Given the description of an element on the screen output the (x, y) to click on. 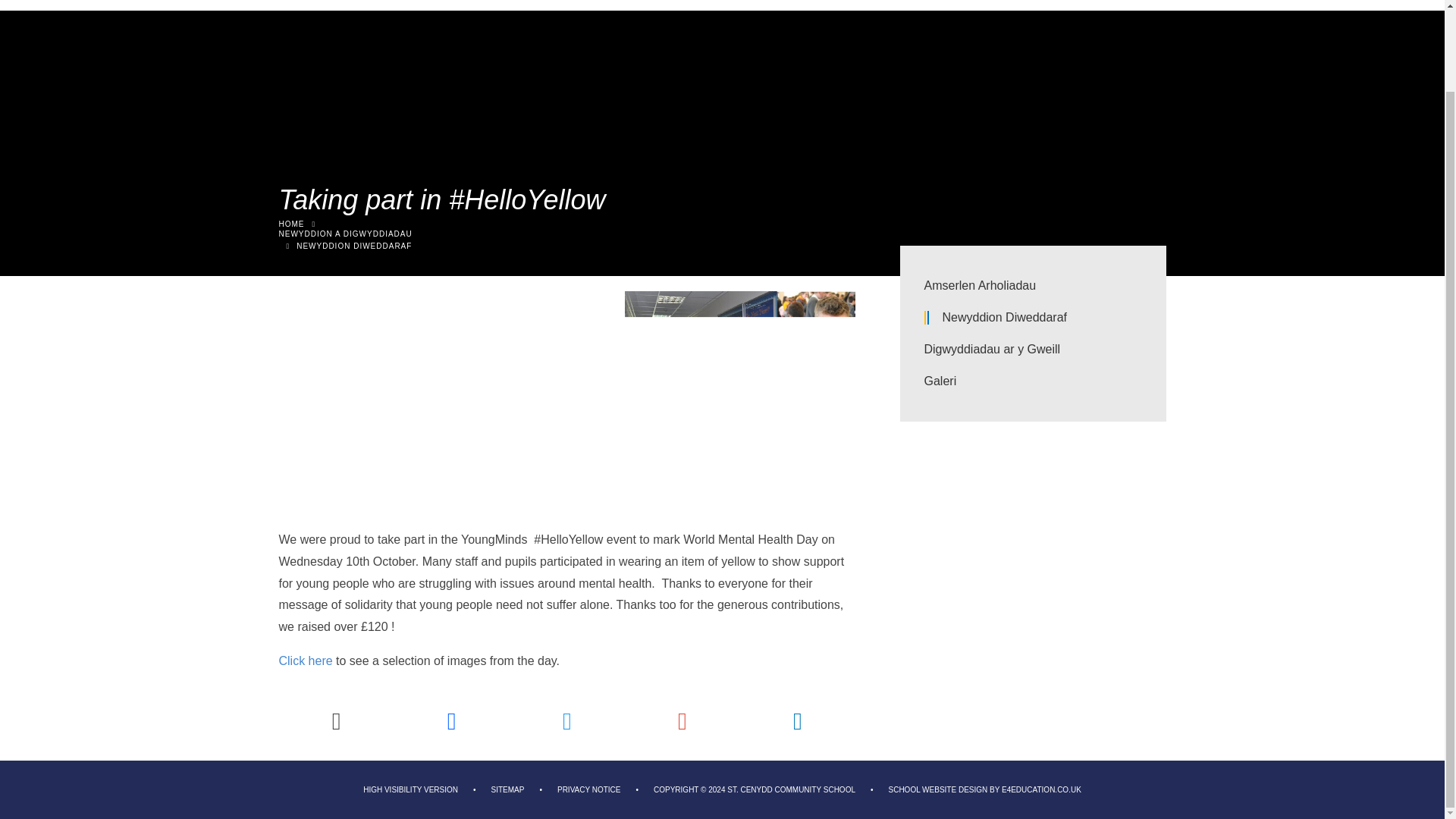
Digwyddiadau ar y Gweill (1032, 349)
HOME (291, 224)
Click here (307, 660)
Amserlen Arholiadau (1032, 286)
NEWYDDION A DIGWYDDIADAU (722, 245)
SITEMAP (508, 789)
PRIVACY NOTICE (589, 789)
HIGH VISIBILITY VERSION (410, 789)
E4EDUCATION.CO.UK (1041, 789)
